Given the description of an element on the screen output the (x, y) to click on. 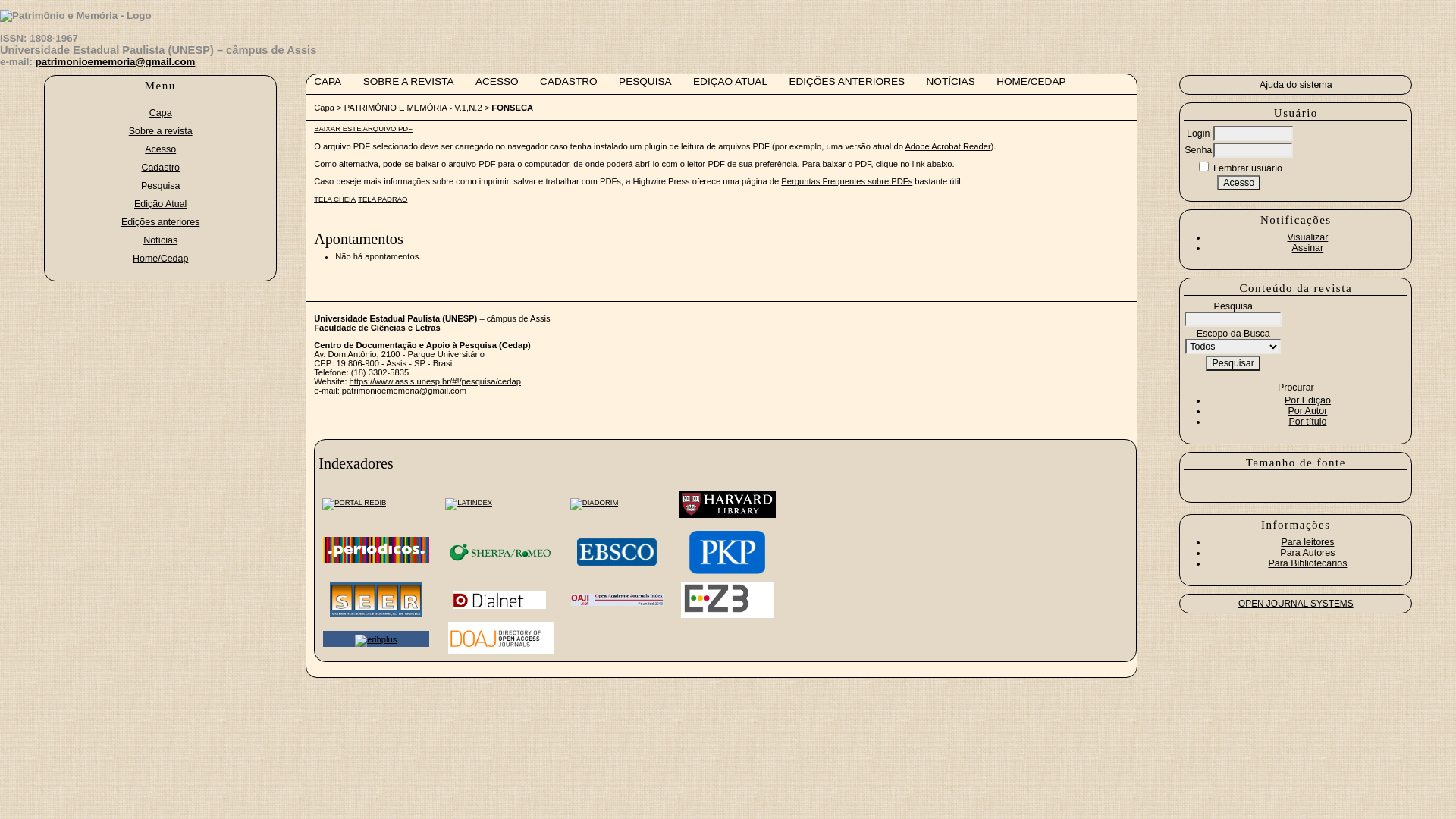
Acesso Element type: text (159, 149)
Para Autores Element type: text (1307, 552)
Adobe Acrobat Reader Element type: text (947, 145)
Ajuda do sistema Element type: text (1295, 84)
Visualizar Element type: text (1306, 237)
https://www.assis.unesp.br/#!/pesquisa/cedap Element type: text (434, 380)
Capa Element type: text (160, 112)
Acesso Element type: text (1238, 182)
FONSECA Element type: text (512, 107)
Sobre a revista Element type: text (160, 130)
CAPA Element type: text (327, 81)
Pesquisar Element type: text (1232, 362)
PESQUISA Element type: text (644, 81)
BAIXAR ESTE ARQUIVO PDF Element type: text (362, 128)
Cadastro Element type: text (160, 167)
CADASTRO Element type: text (568, 81)
SOBRE A REVISTA Element type: text (408, 81)
HOME/CEDAP Element type: text (1030, 81)
Assinar Element type: text (1308, 247)
OPEN JOURNAL SYSTEMS Element type: text (1295, 603)
Home/Cedap Element type: text (160, 258)
TELA CHEIA Element type: text (334, 198)
Pesquisa Element type: text (160, 185)
patrimonioememoria@gmail.com Element type: text (115, 61)
Perguntas Frequentes sobre PDFs Element type: text (846, 180)
Por Autor Element type: text (1307, 410)
Capa Element type: text (323, 107)
ACESSO Element type: text (496, 81)
DOAJ Element type: hover (500, 650)
Para leitores Element type: text (1306, 541)
